Given the description of an element on the screen output the (x, y) to click on. 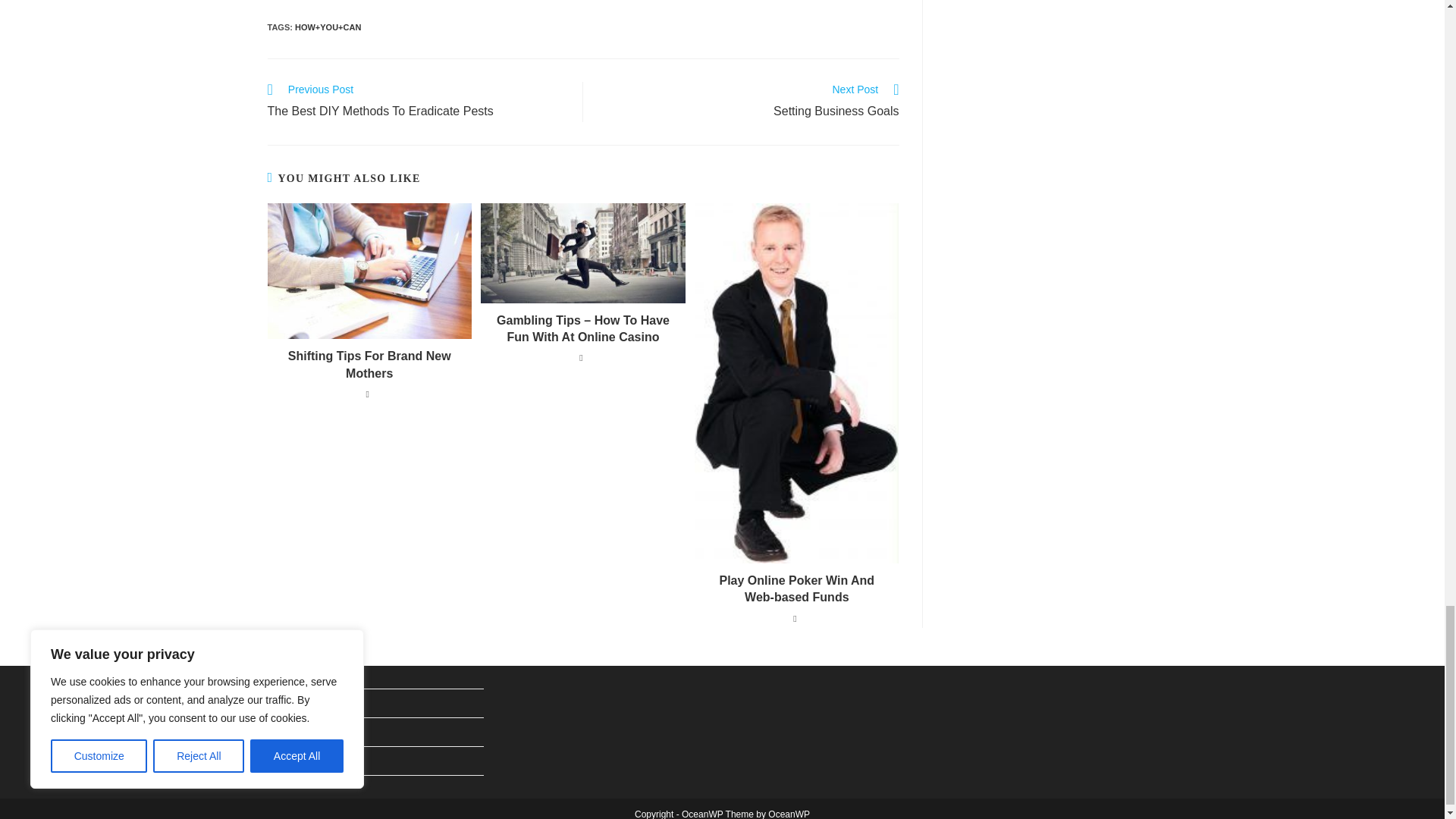
Shifting Tips For Brand New Mothers (416, 101)
